Given the description of an element on the screen output the (x, y) to click on. 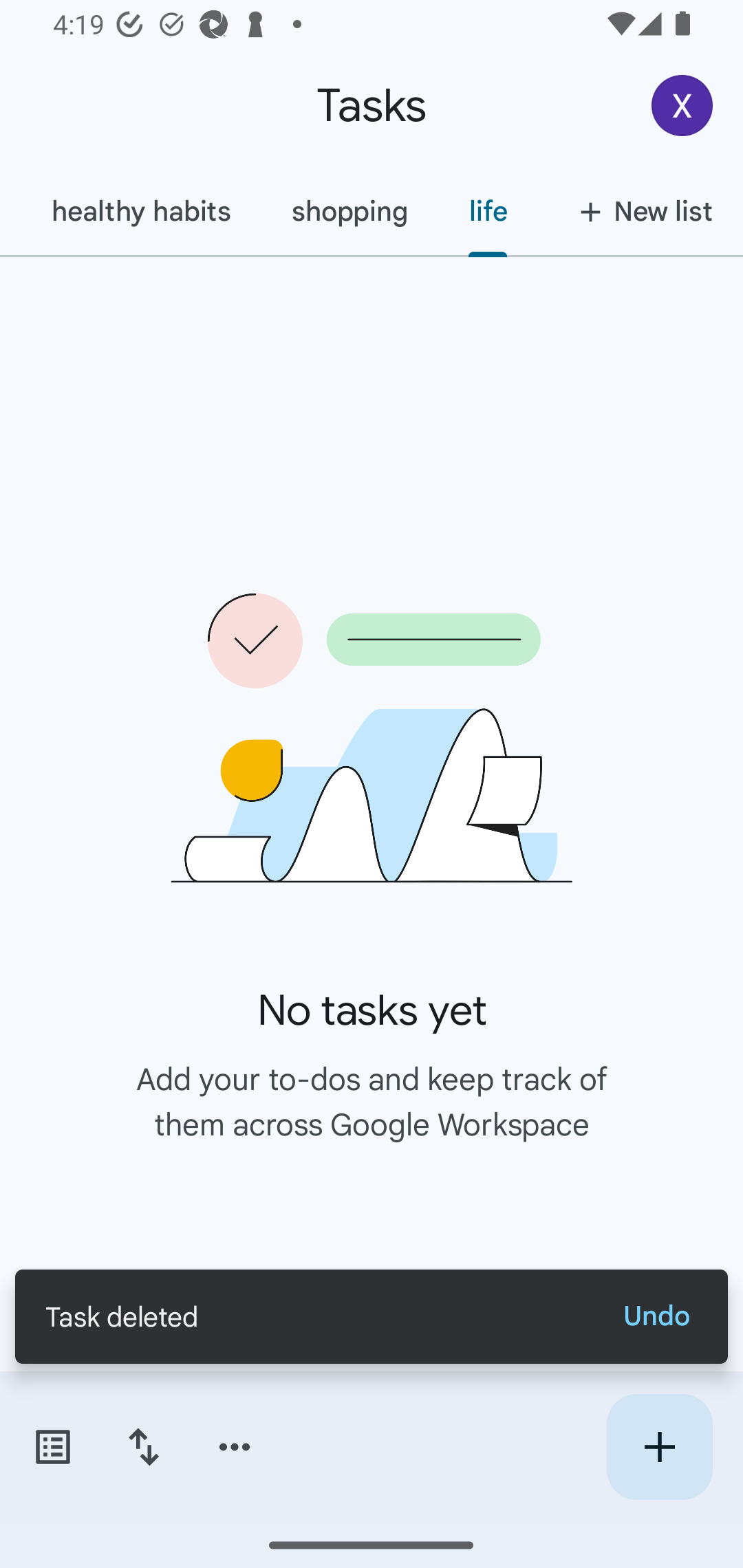
healthy habits (140, 211)
shopping (349, 211)
New list (640, 211)
Undo (656, 1316)
Switch task lists (52, 1447)
Create new task (659, 1446)
Change sort order (143, 1446)
More options (234, 1446)
